Given the description of an element on the screen output the (x, y) to click on. 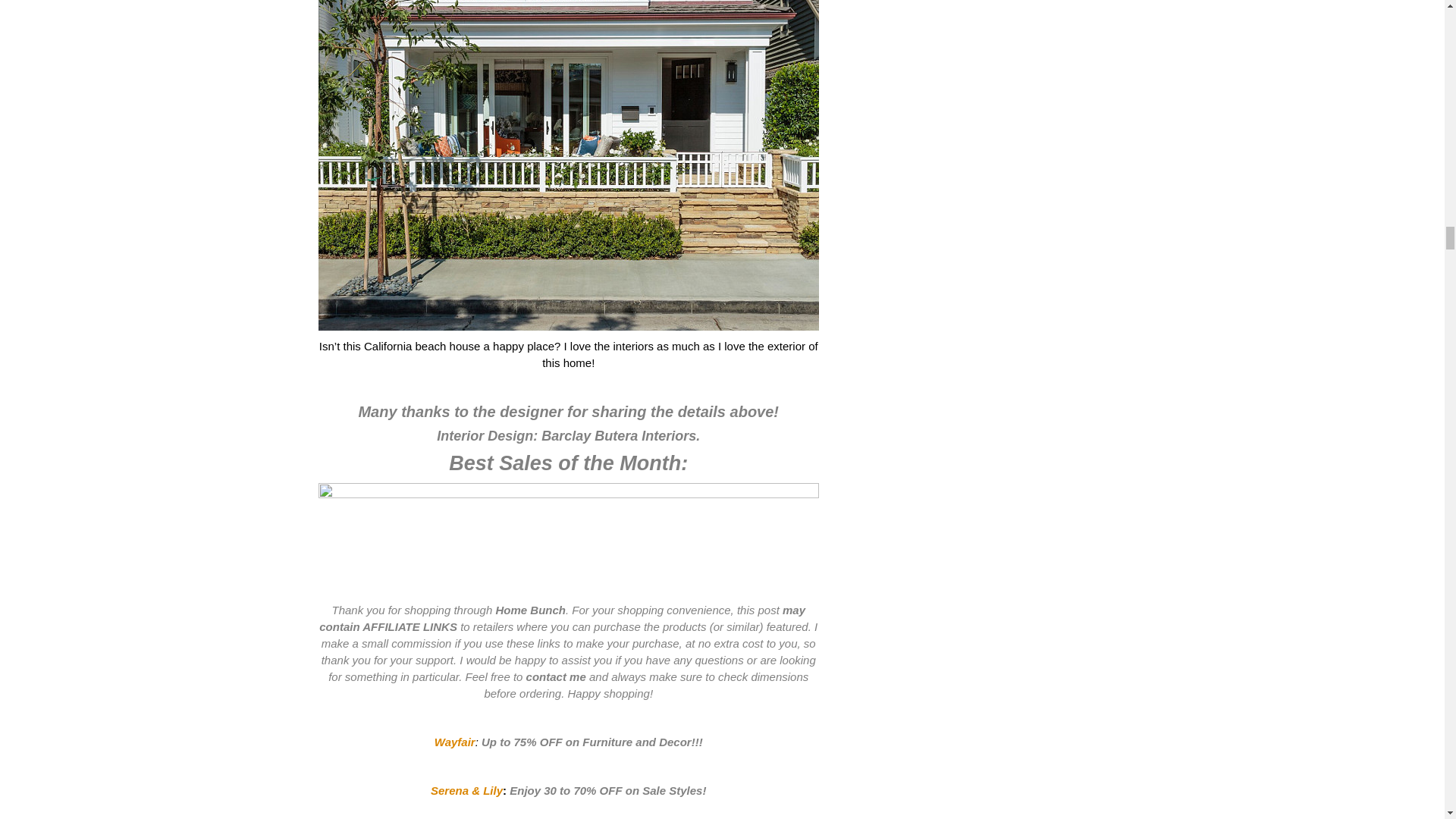
Home decor sales (568, 538)
